Given the description of an element on the screen output the (x, y) to click on. 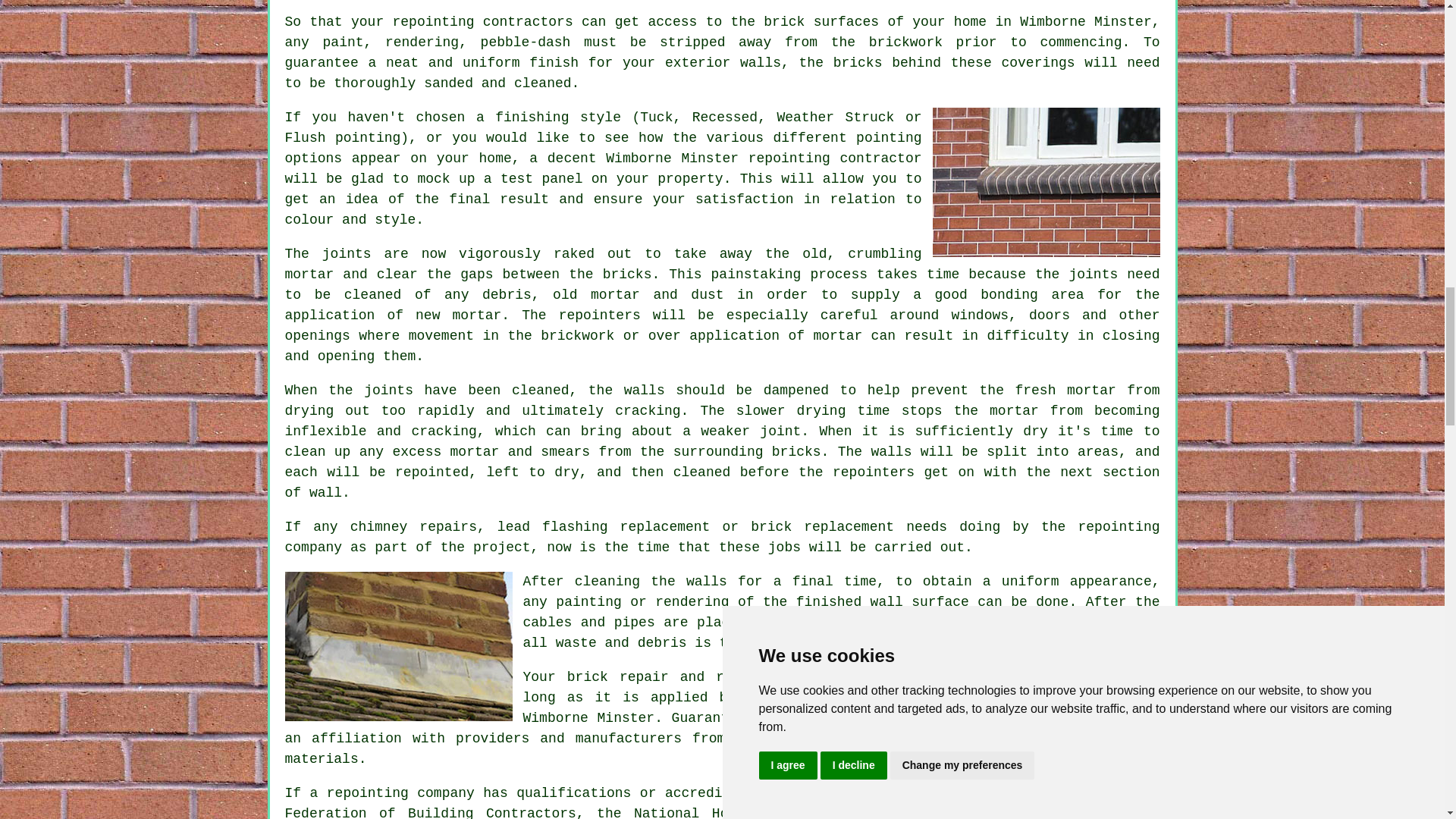
cracking (443, 431)
repointers (599, 314)
cracking (646, 410)
